Given the description of an element on the screen output the (x, y) to click on. 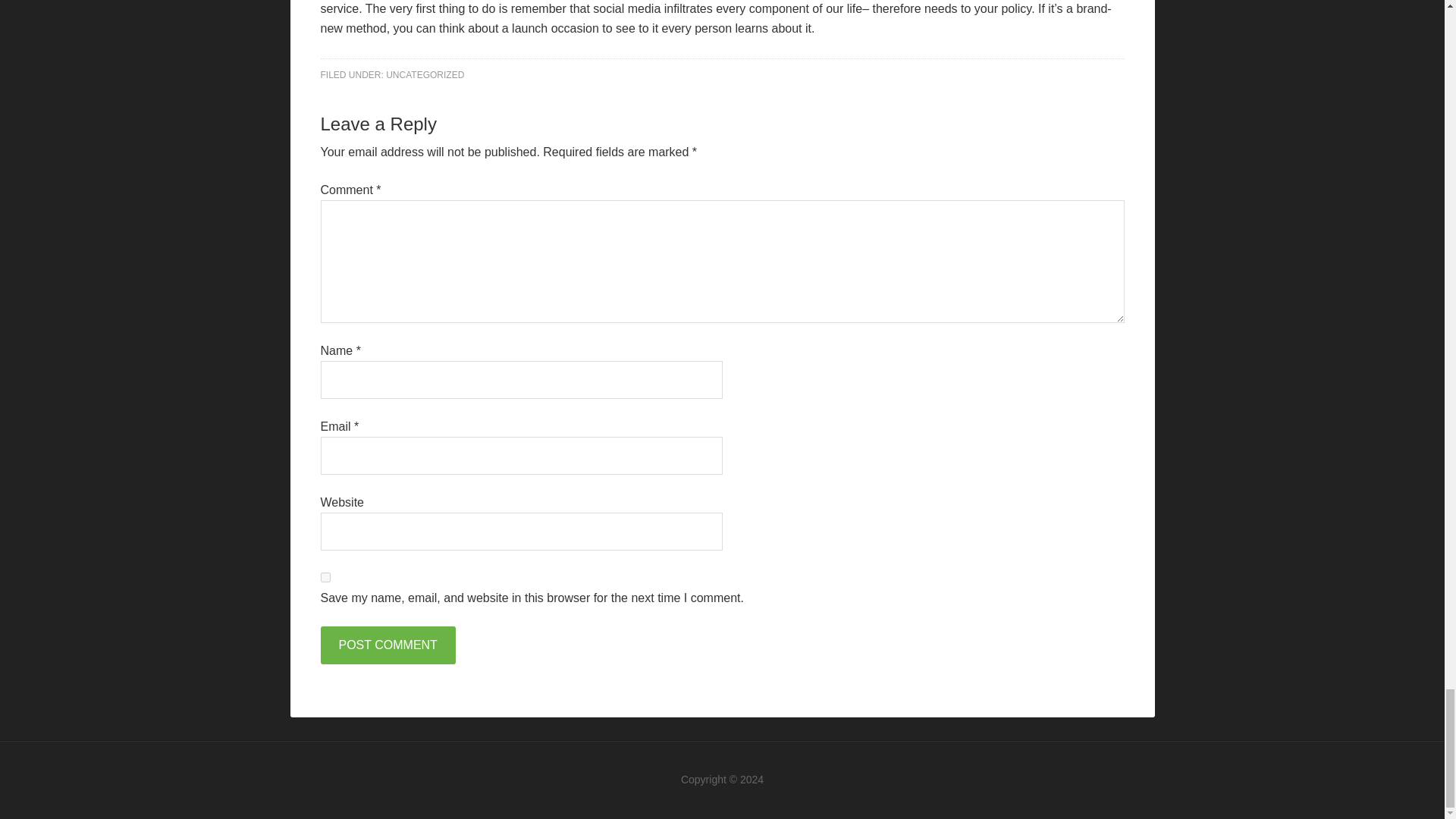
Post Comment (387, 645)
yes (325, 577)
